Given the description of an element on the screen output the (x, y) to click on. 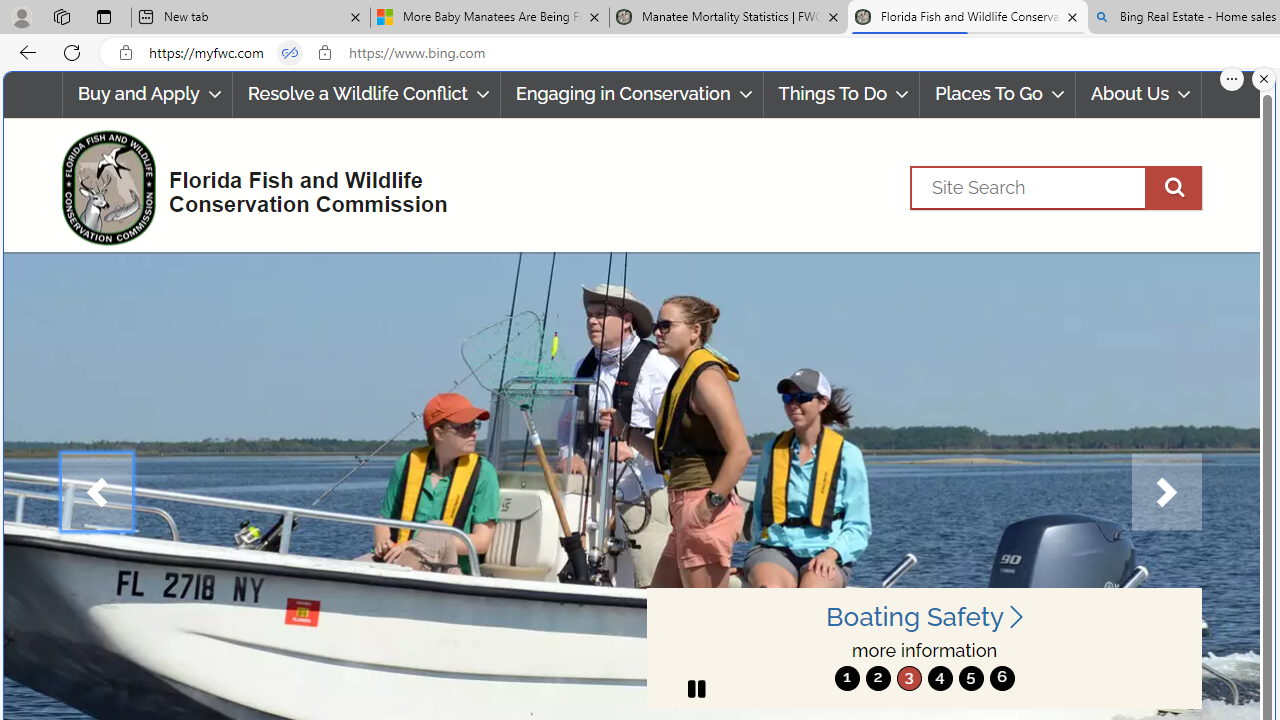
slider pause button (696, 688)
About Us (1138, 94)
Tab actions menu (104, 16)
Boating Safety  (923, 616)
Next (1166, 491)
3 (908, 678)
Back (24, 52)
Things To Do (841, 94)
FWC Logo (108, 187)
2 (877, 678)
New tab (250, 17)
Engaging in Conservation (632, 94)
move to slide 5 (970, 678)
1 (847, 678)
